Given the description of an element on the screen output the (x, y) to click on. 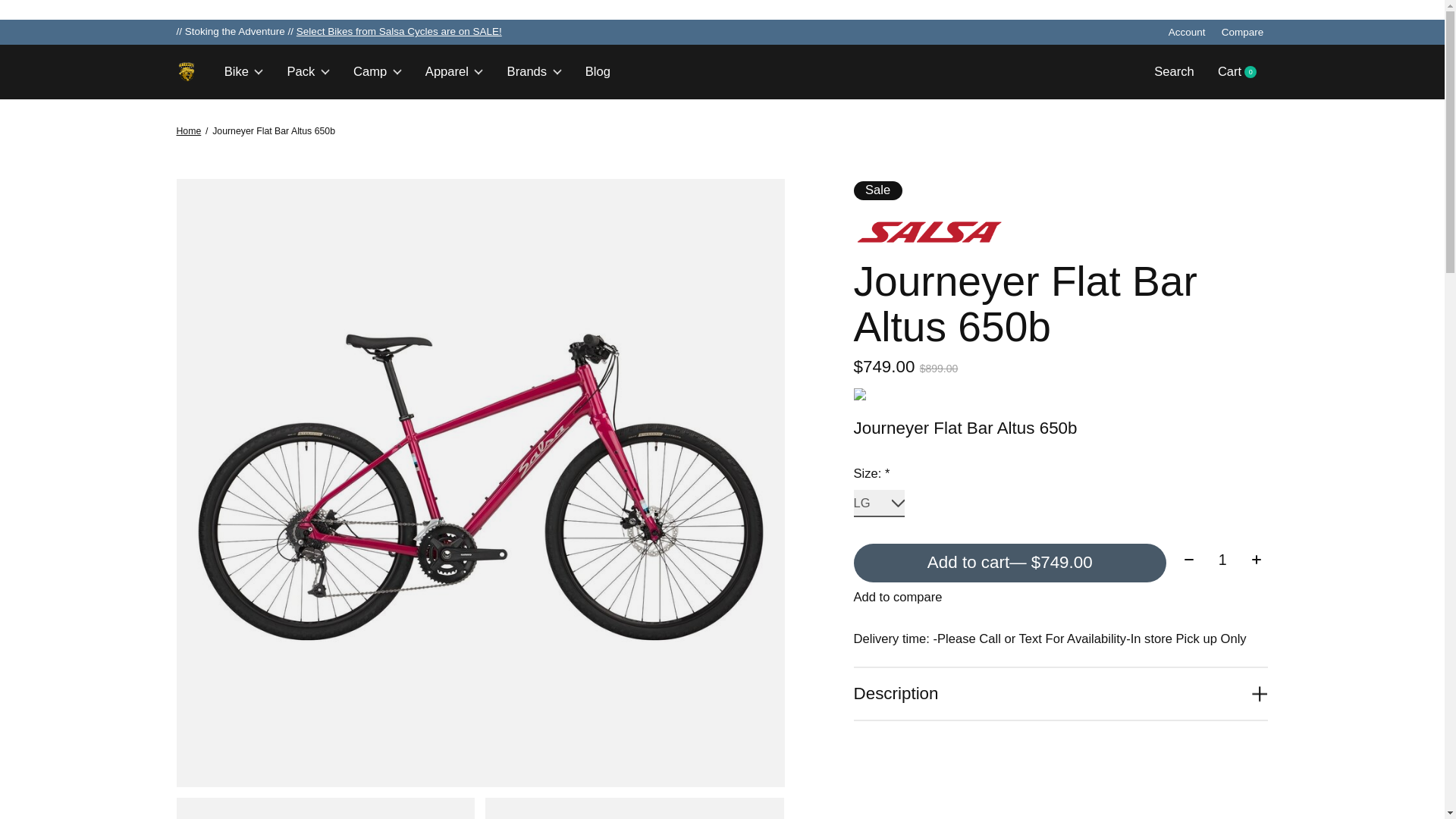
Select Bikes from Salsa Cycles are on SALE! (740, 72)
1 (399, 30)
Account (1222, 558)
Compare (1186, 32)
Bike (1241, 32)
